Given the description of an element on the screen output the (x, y) to click on. 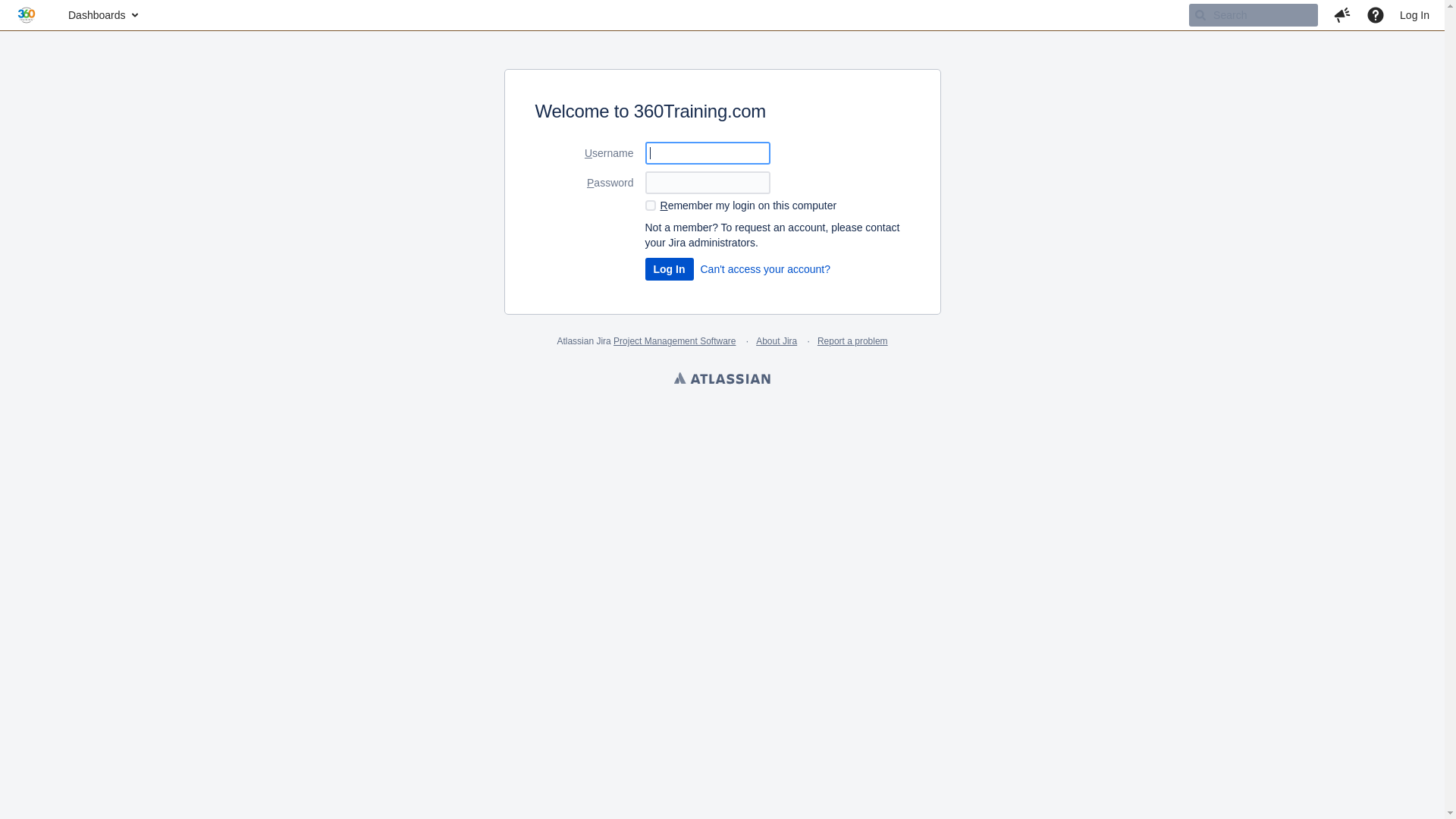
Atlassian Element type: text (722, 379)
Dashboards Element type: text (102, 15)
Log In Element type: text (668, 268)
Help Element type: text (1375, 15)
About Jira Element type: text (776, 340)
Search ( Type '/' ) Element type: hover (1253, 14)
Project Management Software Element type: text (674, 340)
Can't access your account? Element type: text (765, 268)
Log In Element type: text (1414, 15)
Give feedback to Atlassian Element type: text (1341, 15)
Press Alt+s to submit this form Element type: hover (668, 268)
Report a problem Element type: text (852, 340)
